Given the description of an element on the screen output the (x, y) to click on. 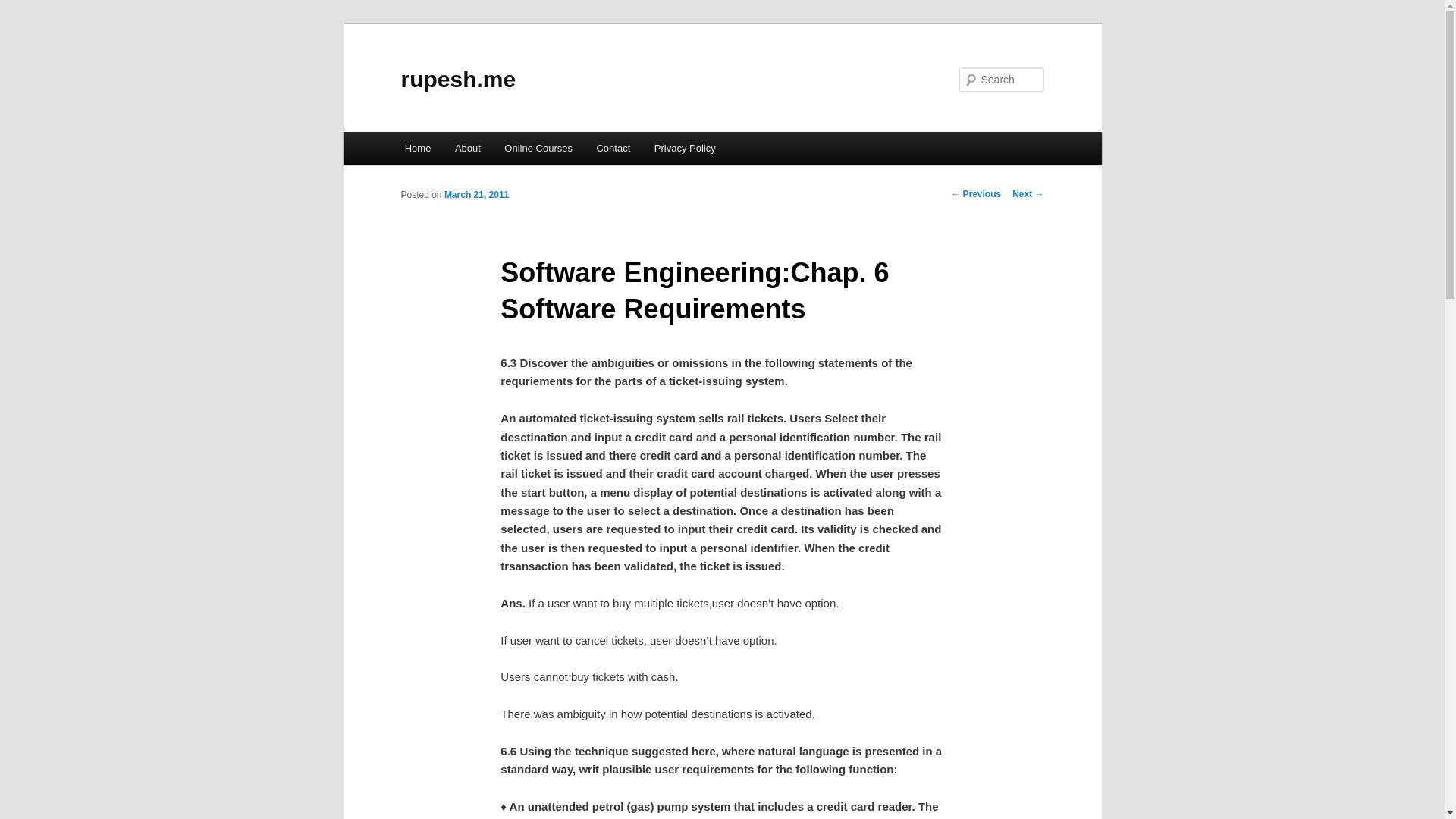
About (467, 147)
March 21, 2011 (476, 194)
Online Courses (539, 147)
Search (24, 8)
Contact (613, 147)
rupesh.me (457, 78)
Home (417, 147)
Privacy Policy (684, 147)
1:46 am (476, 194)
